Given the description of an element on the screen output the (x, y) to click on. 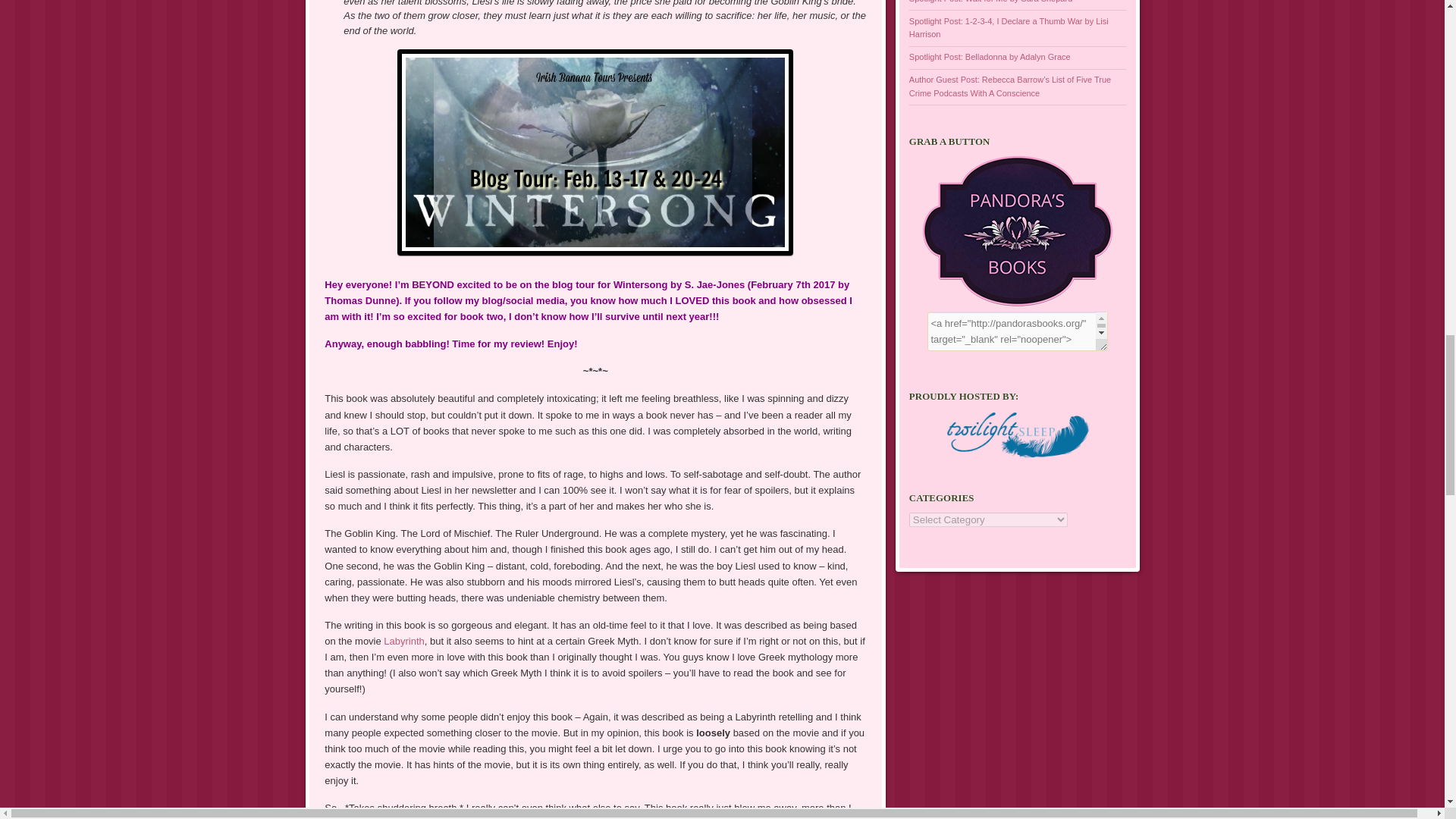
Proudly hosted by Twilight Sleep! (1016, 436)
Labyrinth (403, 641)
